Given the description of an element on the screen output the (x, y) to click on. 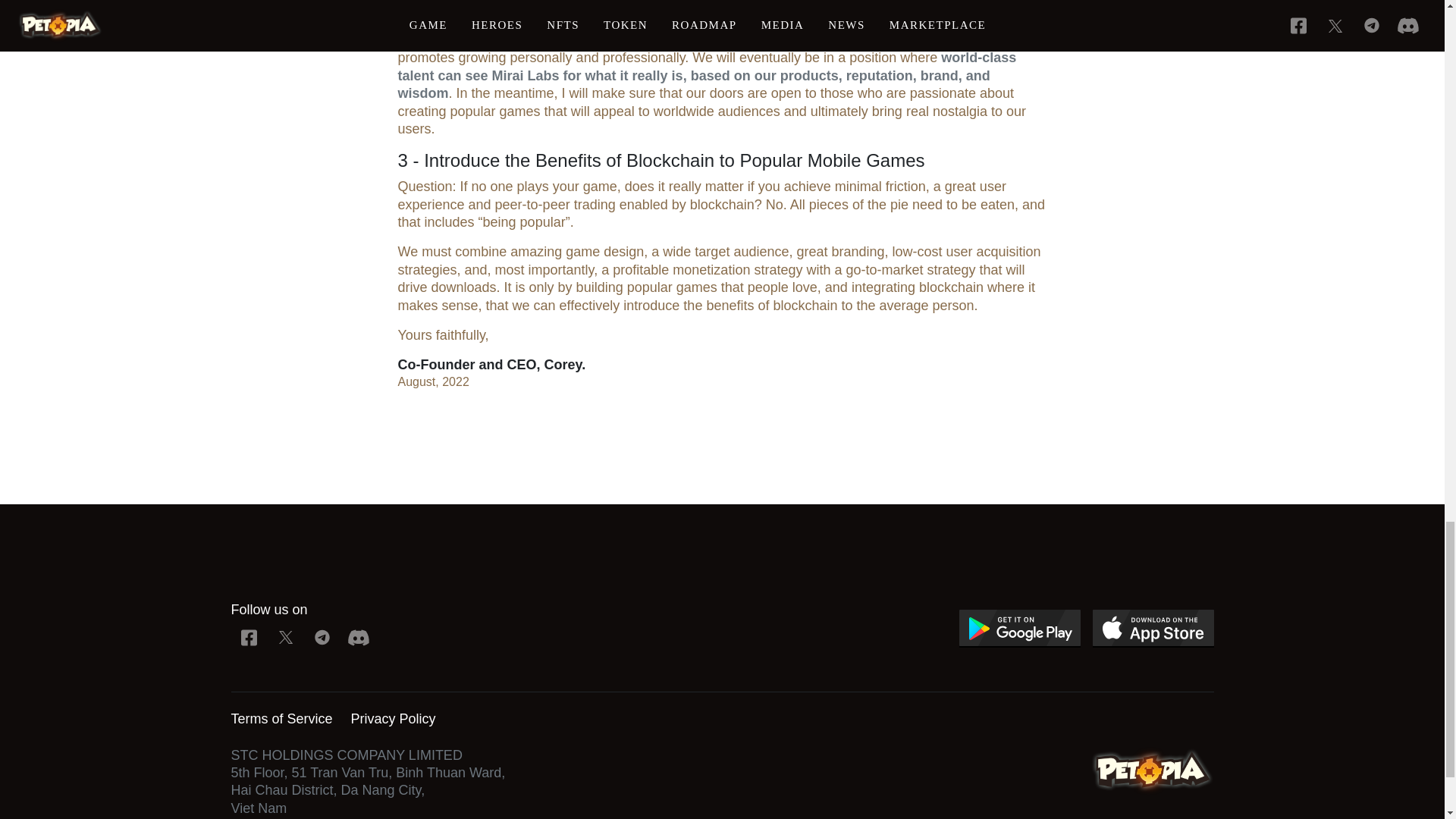
Terms of Service (280, 719)
Privacy Policy (392, 719)
